Given the description of an element on the screen output the (x, y) to click on. 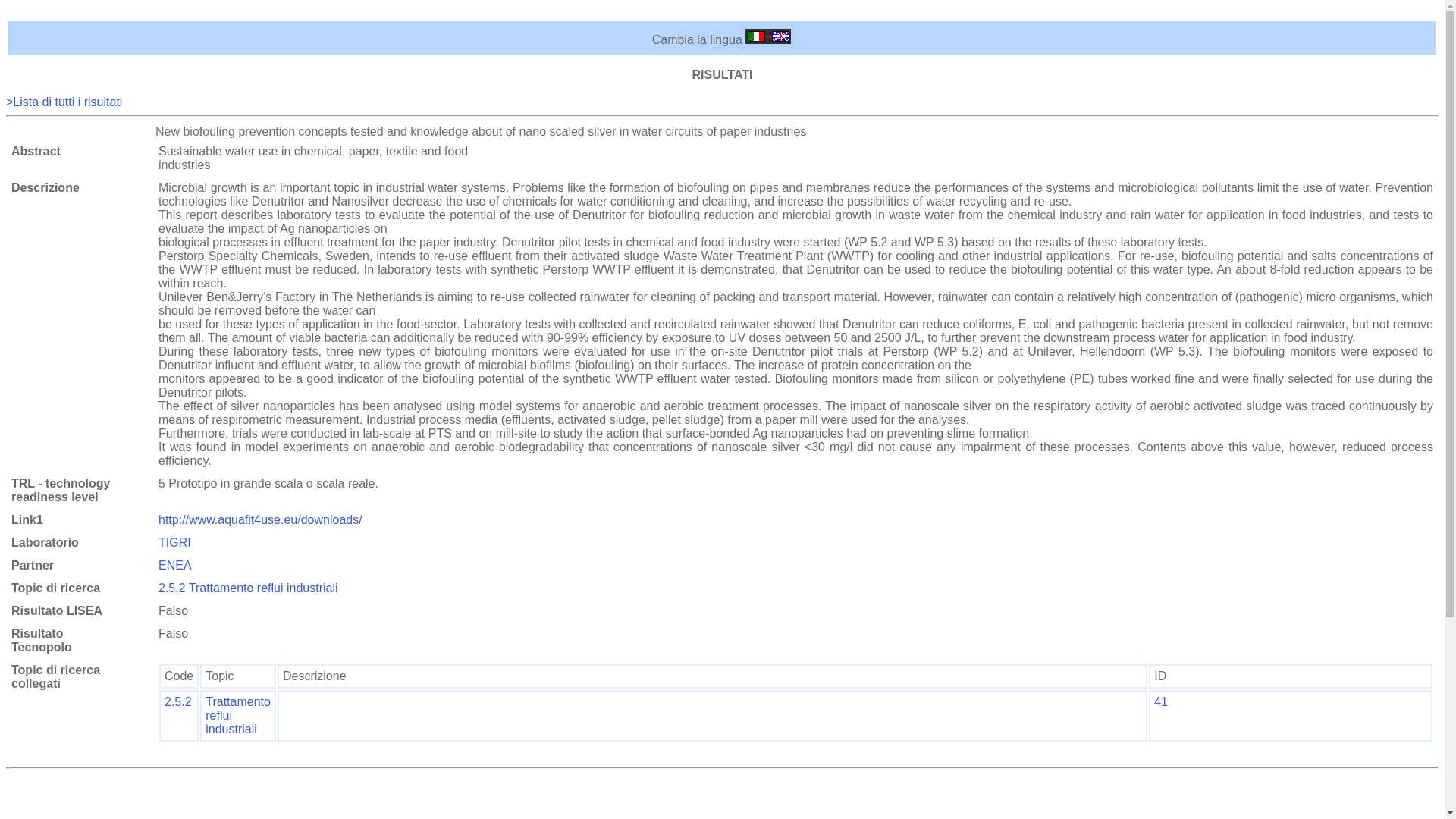
41 (1160, 701)
Click per ZOOM della riga (237, 715)
TIGRI (174, 542)
ENEA (175, 564)
Click per ZOOM della riga (1160, 701)
2.5.2 Trattamento reflui industriali (247, 587)
2.5.2 (178, 701)
Vai al contenuto (49, 11)
Results (63, 101)
Cambia la lingua (767, 39)
Trattamento reflui industriali (237, 715)
Click per ZOOM della riga (178, 701)
